Given the description of an element on the screen output the (x, y) to click on. 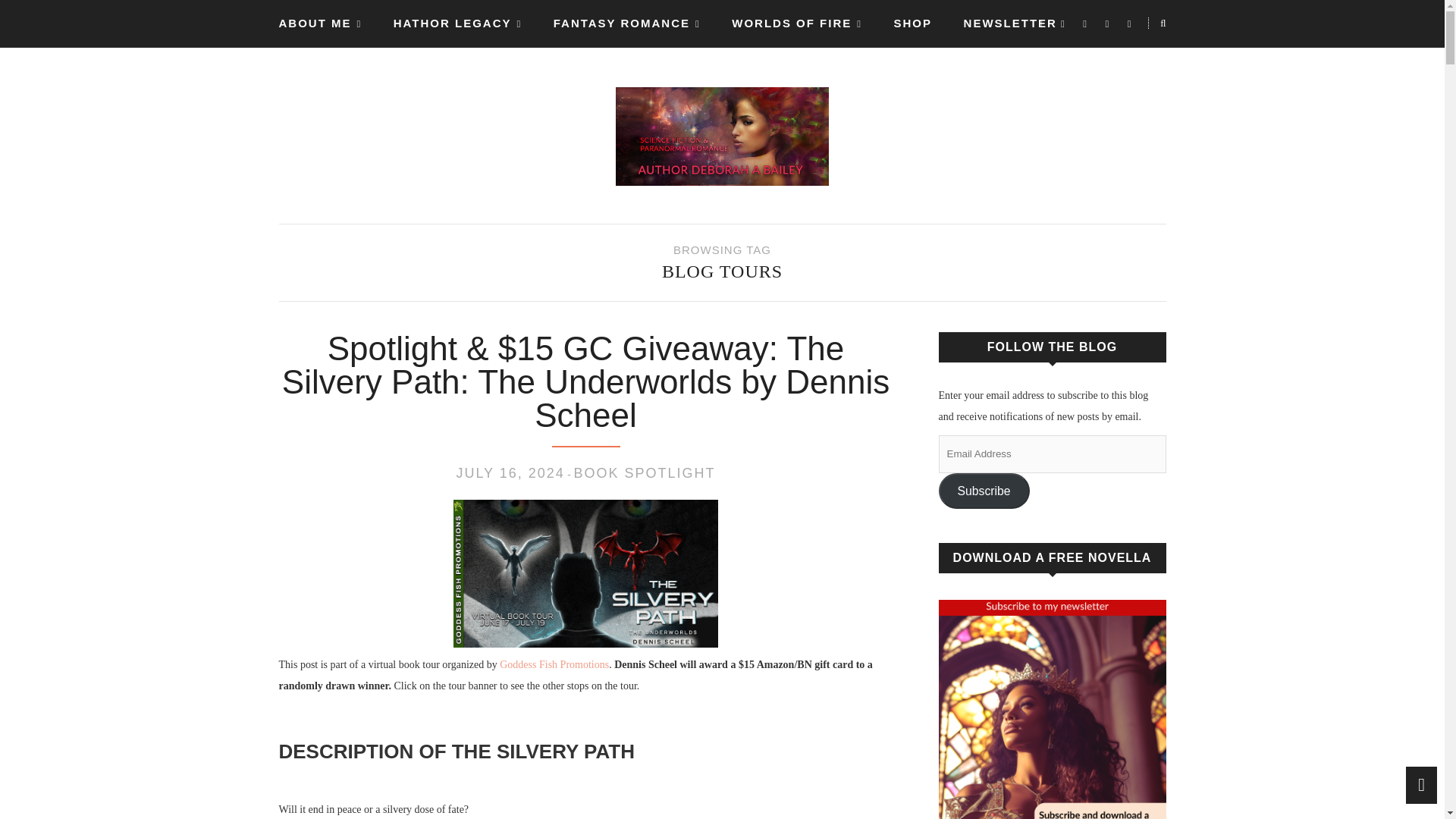
HATHOR LEGACY (457, 23)
WORLDS OF FIRE (796, 23)
SHOP (913, 23)
CLASSES (407, 71)
NEWSLETTER (1010, 23)
CONTACT (311, 71)
ABOUT ME (320, 23)
FANTASY ROMANCE (626, 23)
